Given the description of an element on the screen output the (x, y) to click on. 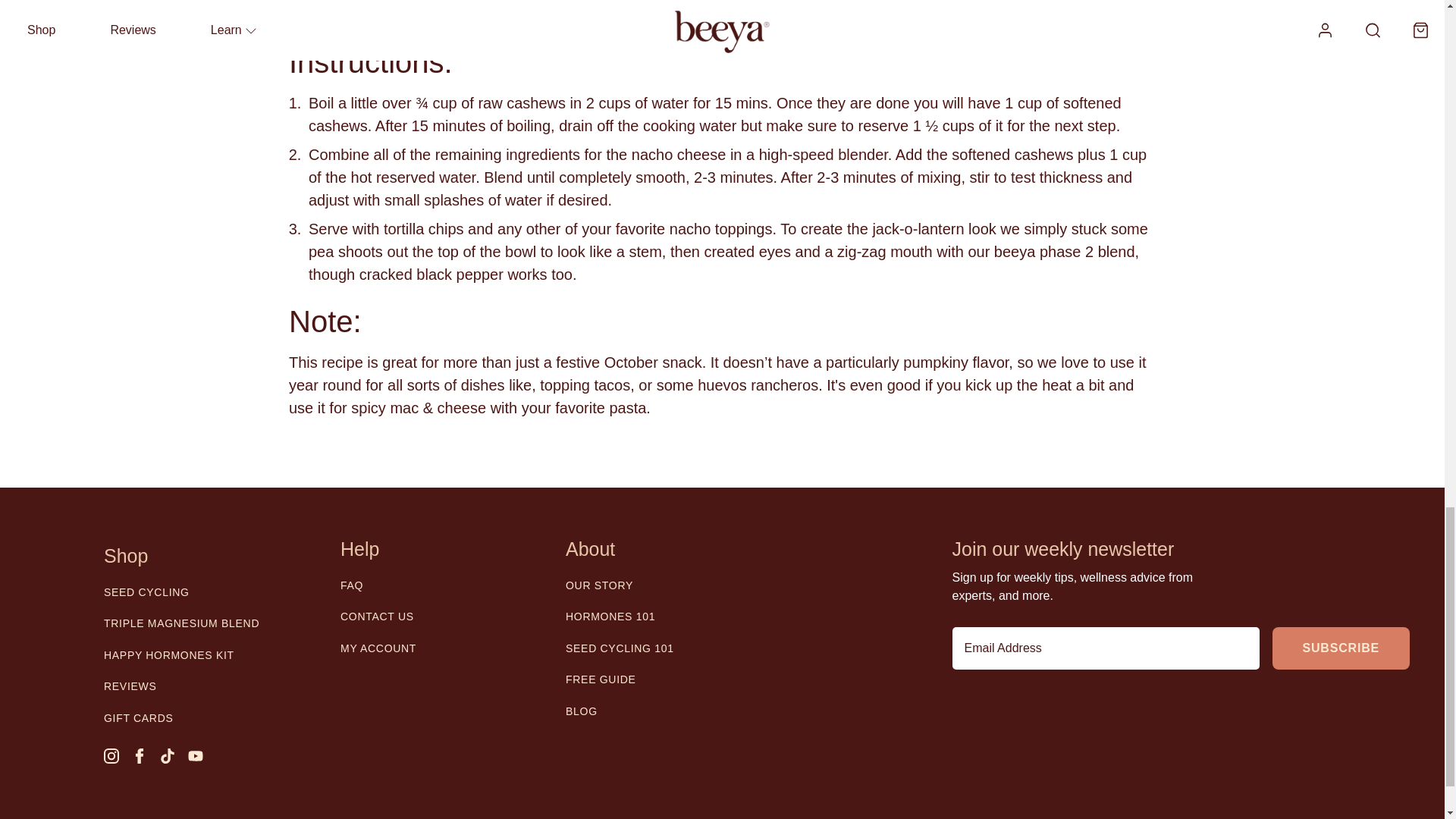
HAPPY HORMONES KIT (168, 654)
SEED CYCLING (146, 592)
TRIPLE MAGNESIUM BLEND (181, 623)
